Given the description of an element on the screen output the (x, y) to click on. 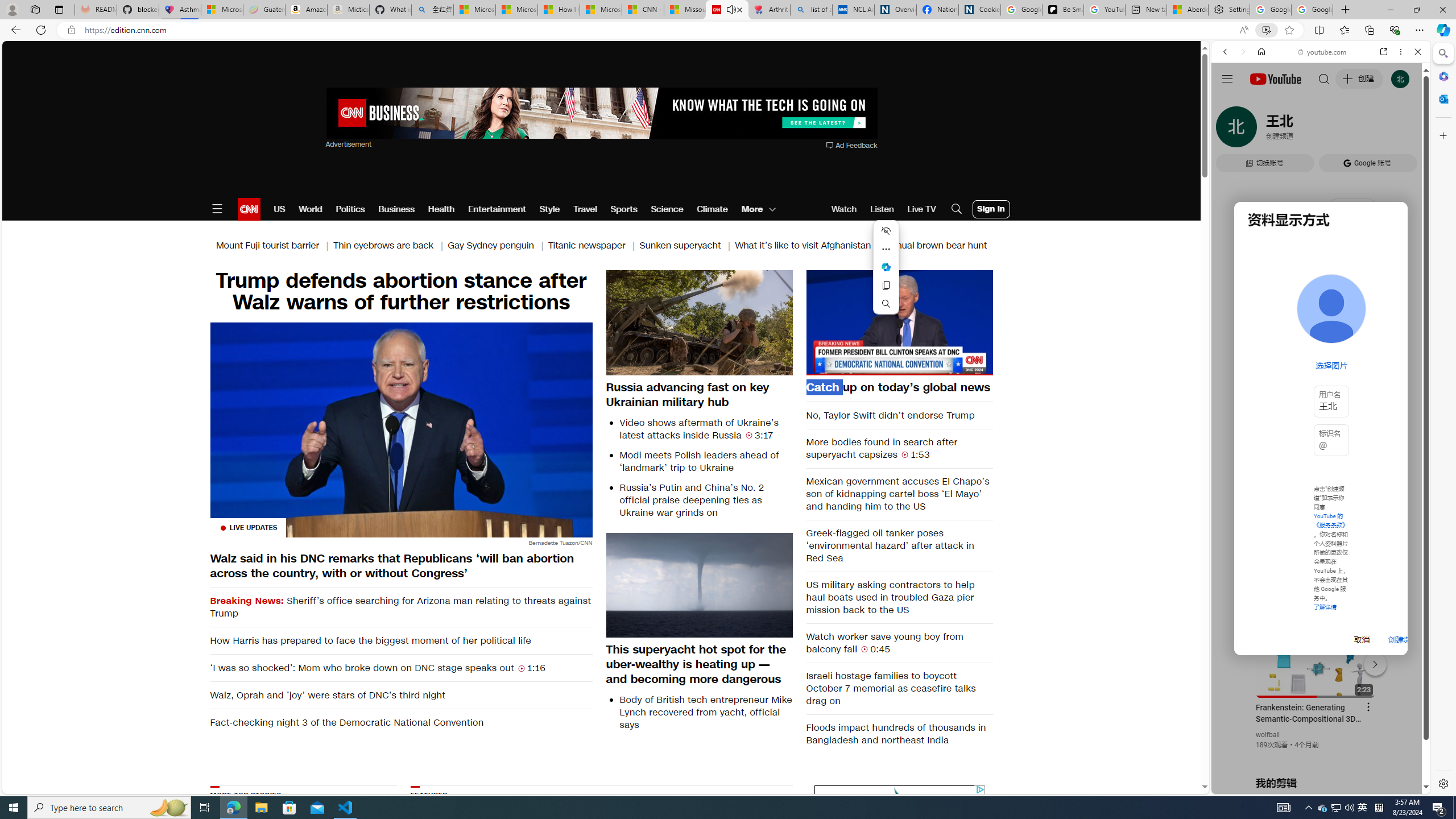
Mount Fuji tourist barrier | (274, 245)
AutomationID: aw0 (600, 113)
YouTube - YouTube (1315, 560)
Mini menu on text selection (885, 266)
